Given the description of an element on the screen output the (x, y) to click on. 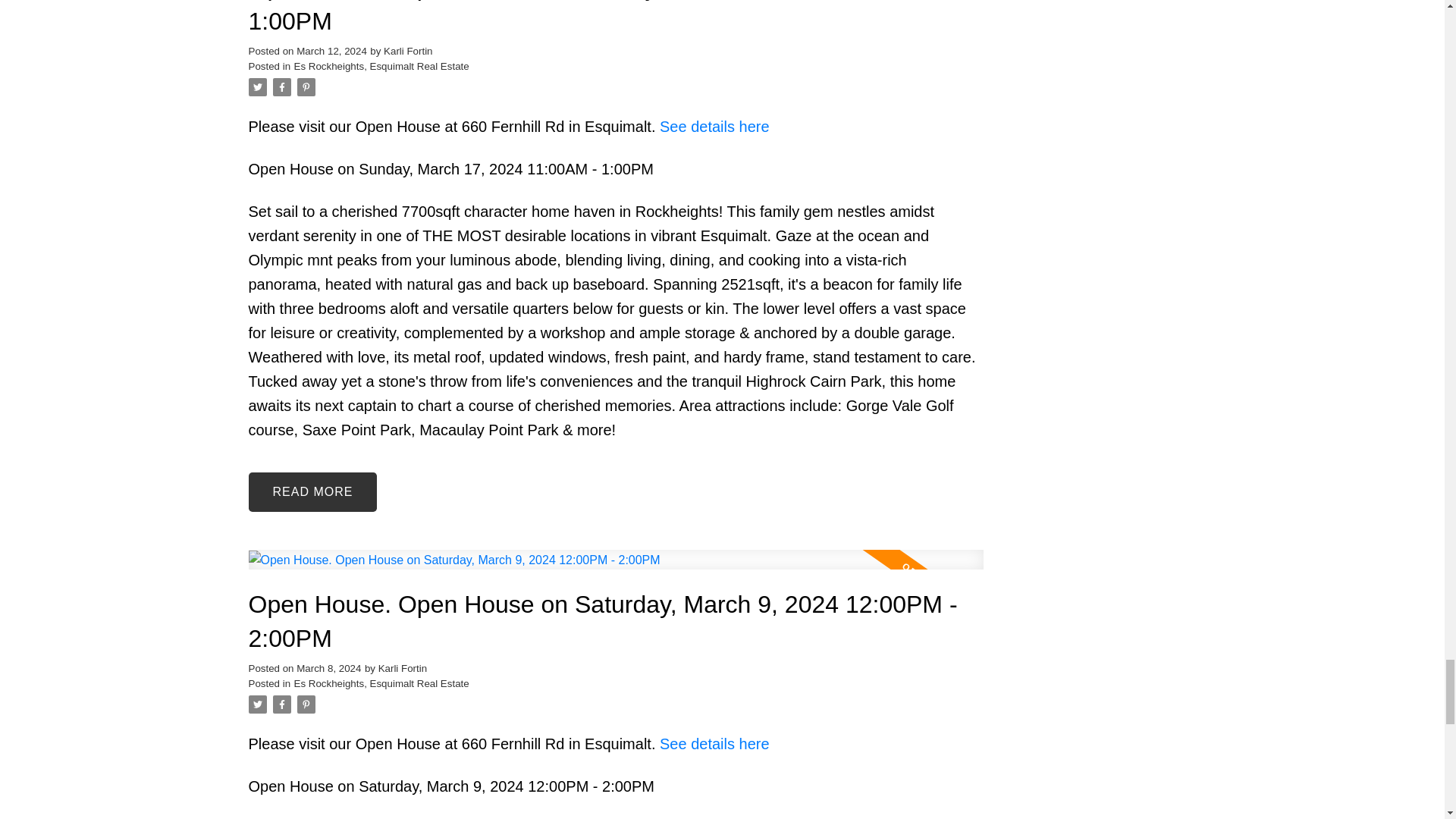
Read full post (616, 568)
